Given the description of an element on the screen output the (x, y) to click on. 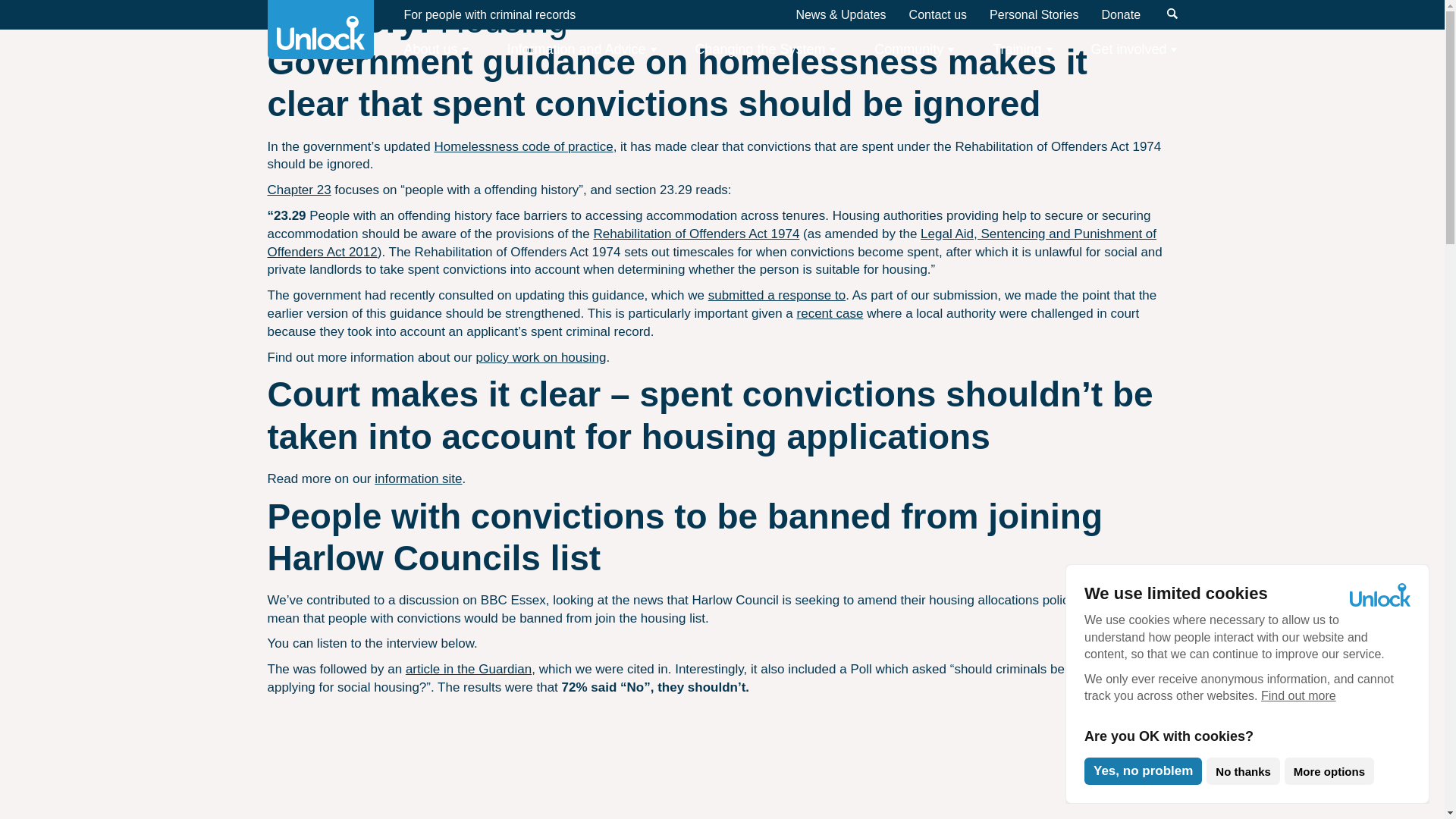
Information and Advice (581, 49)
Personal Stories (1034, 14)
Donate (1120, 14)
Changing the System (764, 49)
About us (435, 49)
Contact us (937, 14)
